Given the description of an element on the screen output the (x, y) to click on. 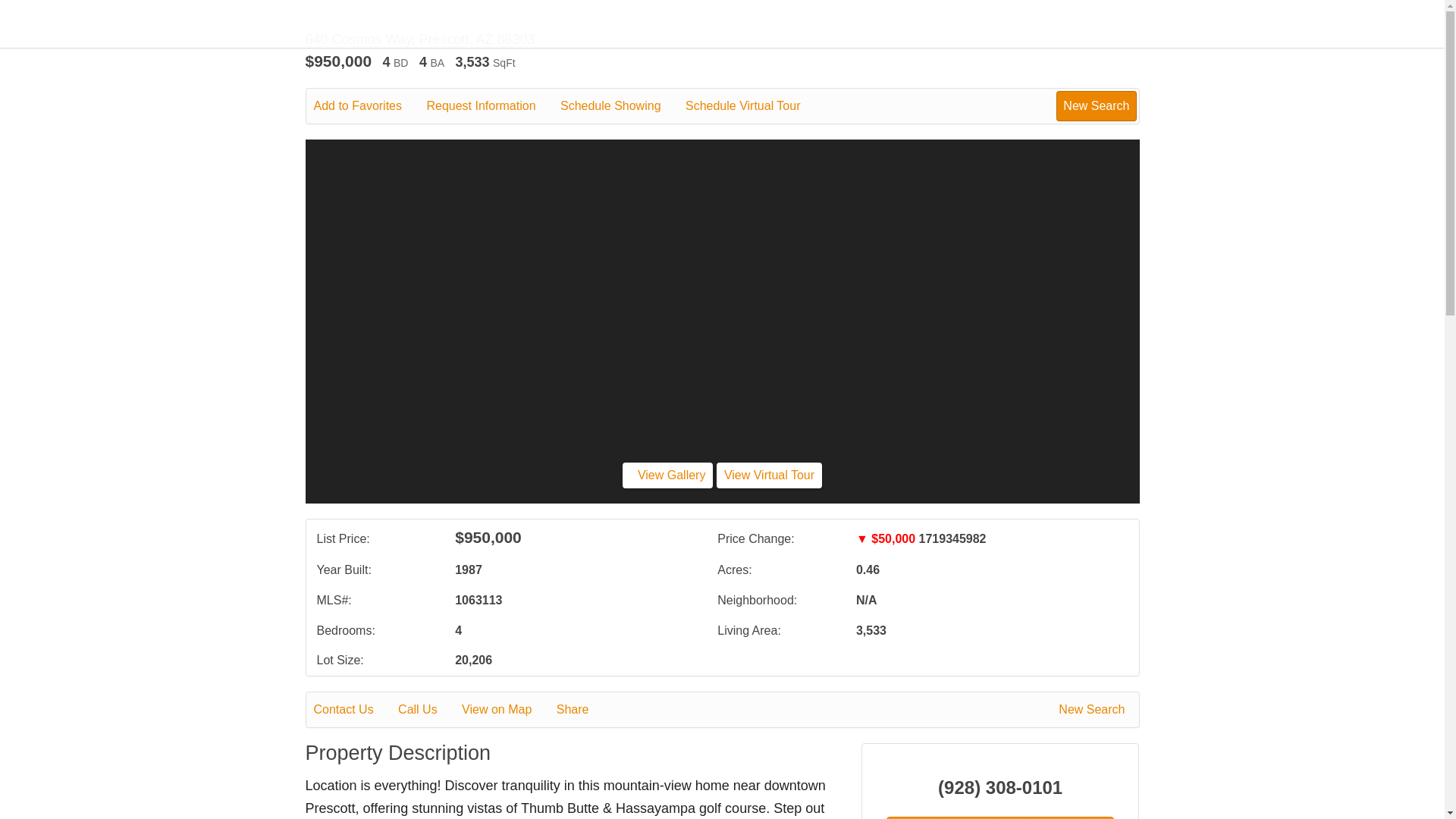
Request Information (491, 106)
New Search (1094, 709)
View Gallery (668, 475)
Add to Favorites (368, 106)
Call Us (427, 709)
New Search (1096, 105)
View on Map (507, 709)
View Virtual Tour (769, 474)
Share (583, 709)
View Gallery (668, 474)
View Virtual Tour (769, 475)
Schedule Showing (621, 106)
Contact Us (354, 709)
Schedule Virtual Tour (753, 106)
